Given the description of an element on the screen output the (x, y) to click on. 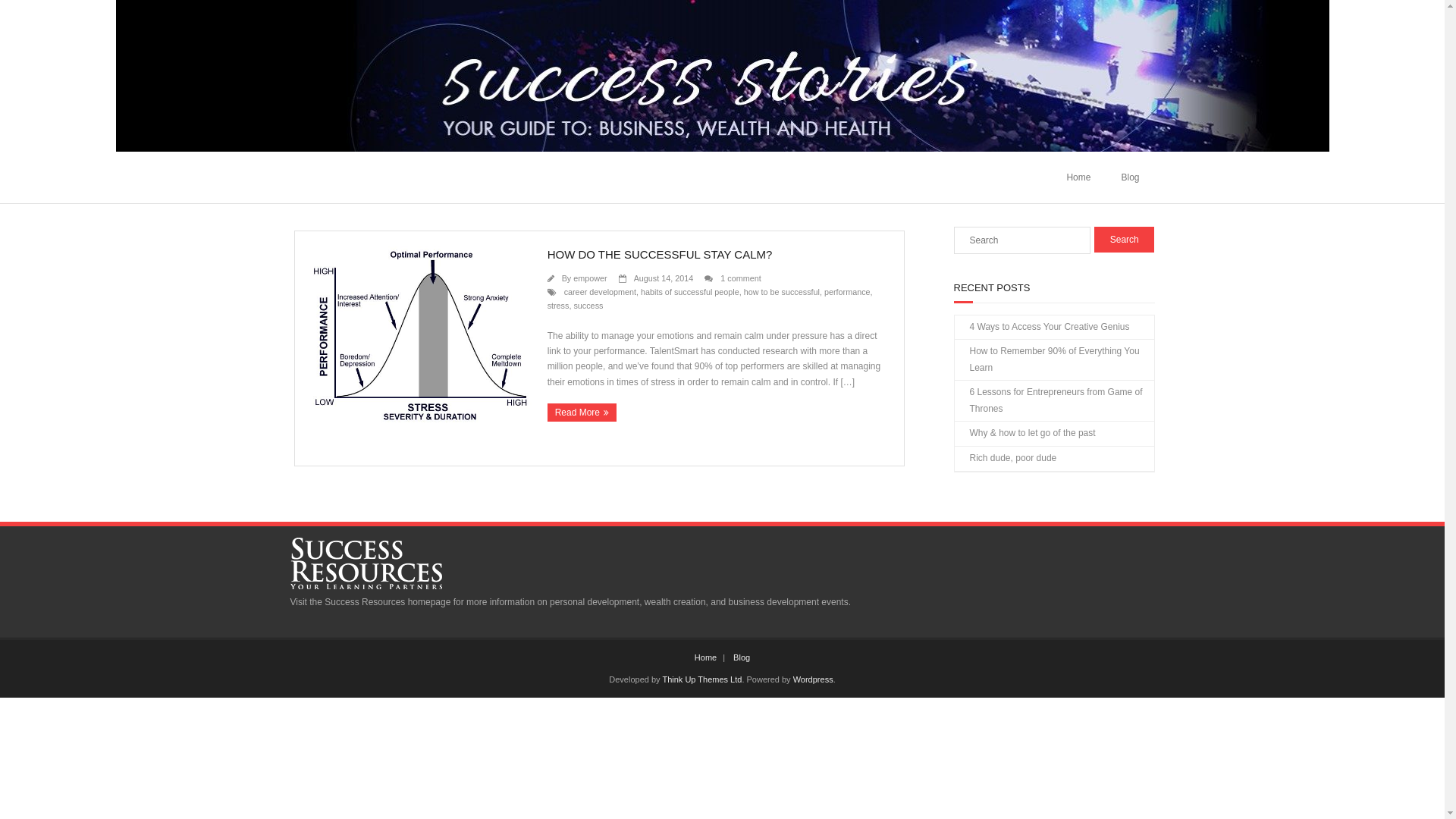
6 Lessons for Entrepreneurs from Game of Thrones Element type: text (1053, 400)
how to be successful Element type: text (781, 291)
Read More Element type: text (581, 412)
Rich dude, poor dude Element type: text (1004, 458)
Blog Element type: text (741, 657)
Home Element type: text (705, 657)
success Element type: text (587, 305)
Why & how to let go of the past Element type: text (1024, 433)
empower Element type: text (589, 277)
habits of successful people Element type: text (689, 291)
stress Element type: text (558, 305)
performance Element type: text (847, 291)
Search Element type: text (1124, 239)
August 14, 2014 Element type: text (663, 277)
Home Element type: text (1078, 177)
Blog Element type: text (1129, 177)
HOW DO THE SUCCESSFUL STAY CALM? Element type: text (659, 253)
career development Element type: text (600, 291)
Wordpress Element type: text (813, 679)
1 comment Element type: text (740, 277)
How to Remember 90% of Everything You Learn Element type: text (1053, 359)
Think Up Themes Ltd Element type: text (701, 679)
4 Ways to Access Your Creative Genius Element type: text (1041, 327)
